Given the description of an element on the screen output the (x, y) to click on. 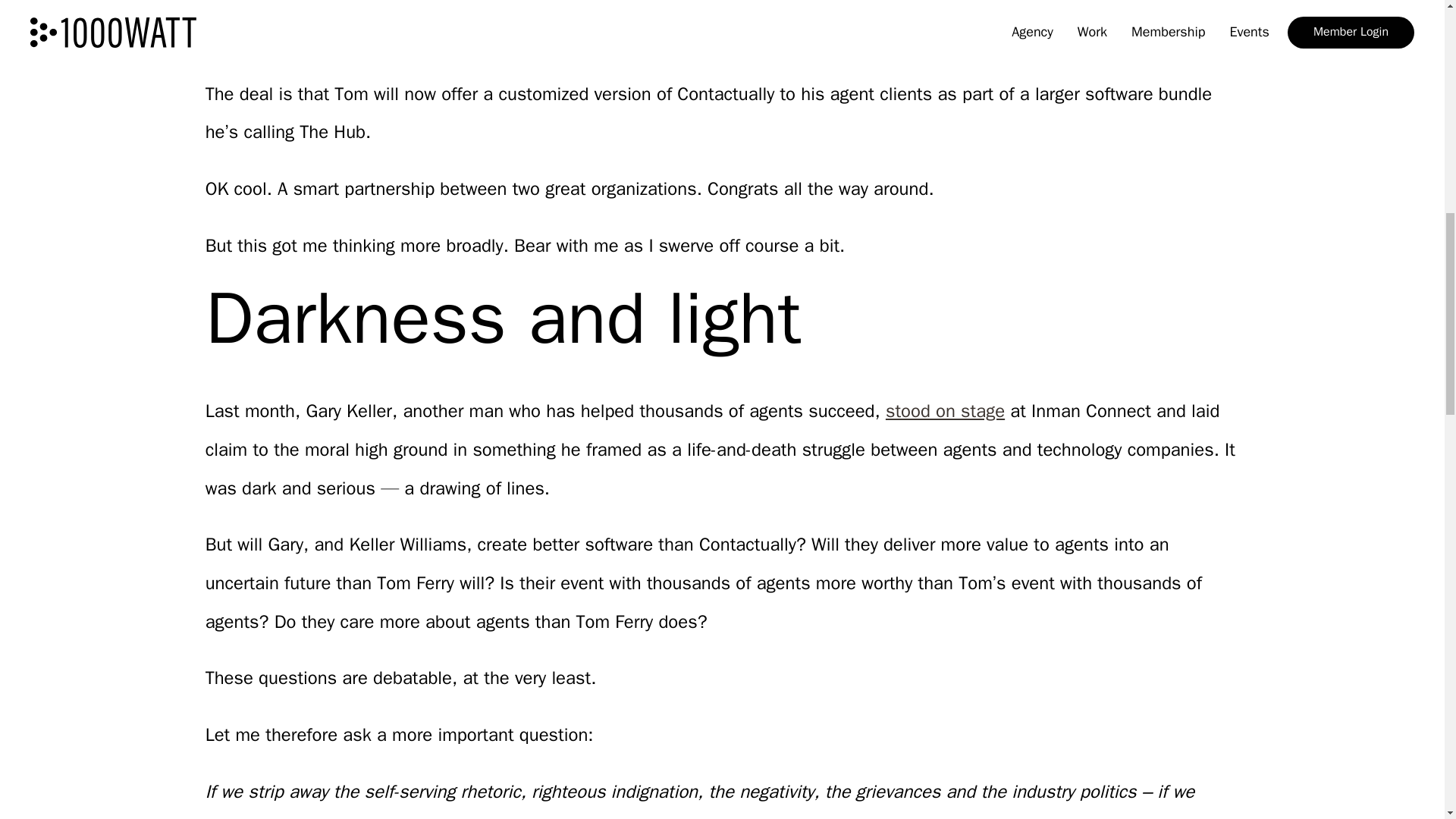
stood on stage (944, 410)
